Given the description of an element on the screen output the (x, y) to click on. 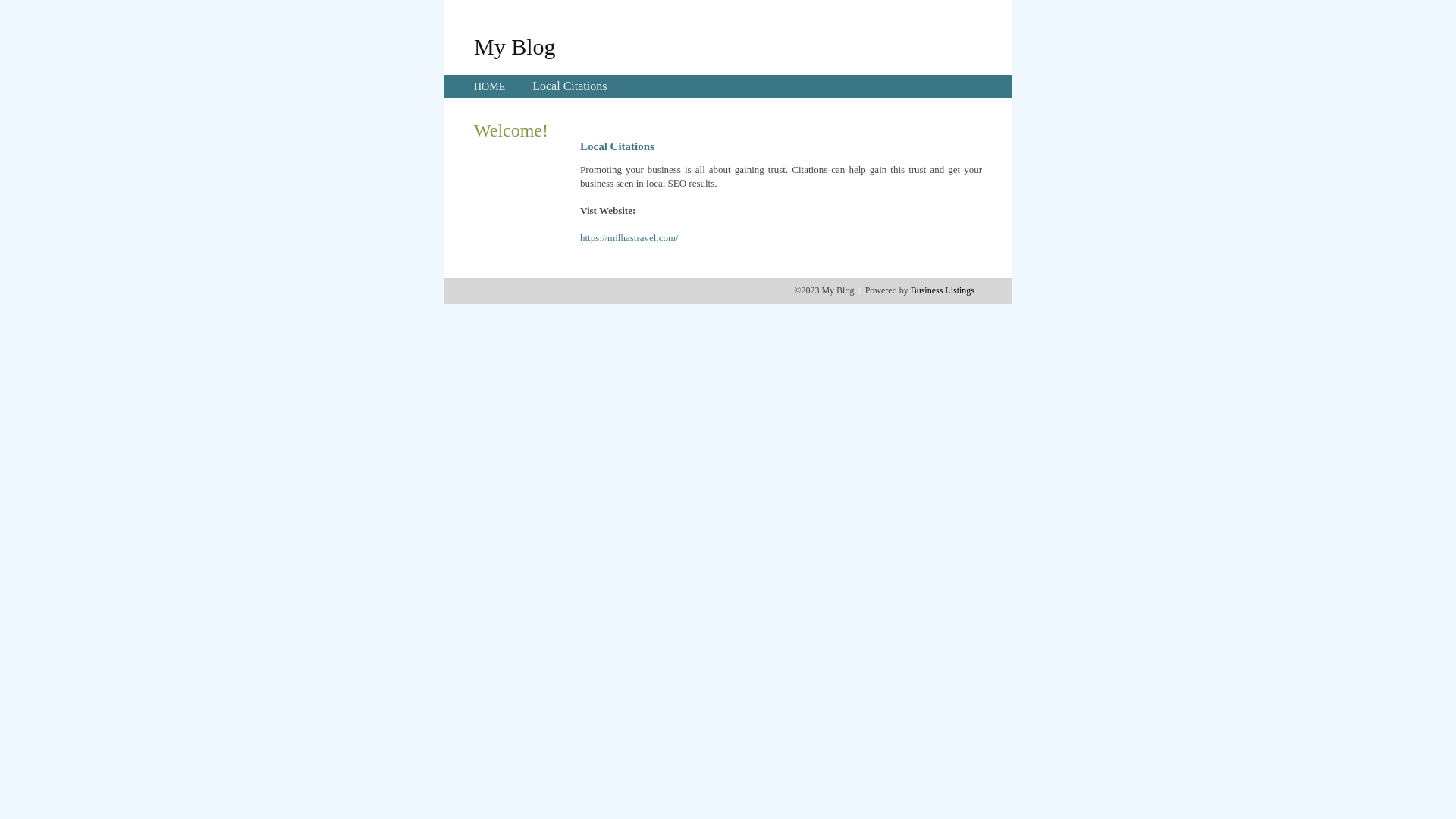
https://milhastravel.com/ Element type: text (629, 237)
Business Listings Element type: text (942, 290)
My Blog Element type: text (514, 46)
HOME Element type: text (489, 86)
Local Citations Element type: text (569, 85)
